Given the description of an element on the screen output the (x, y) to click on. 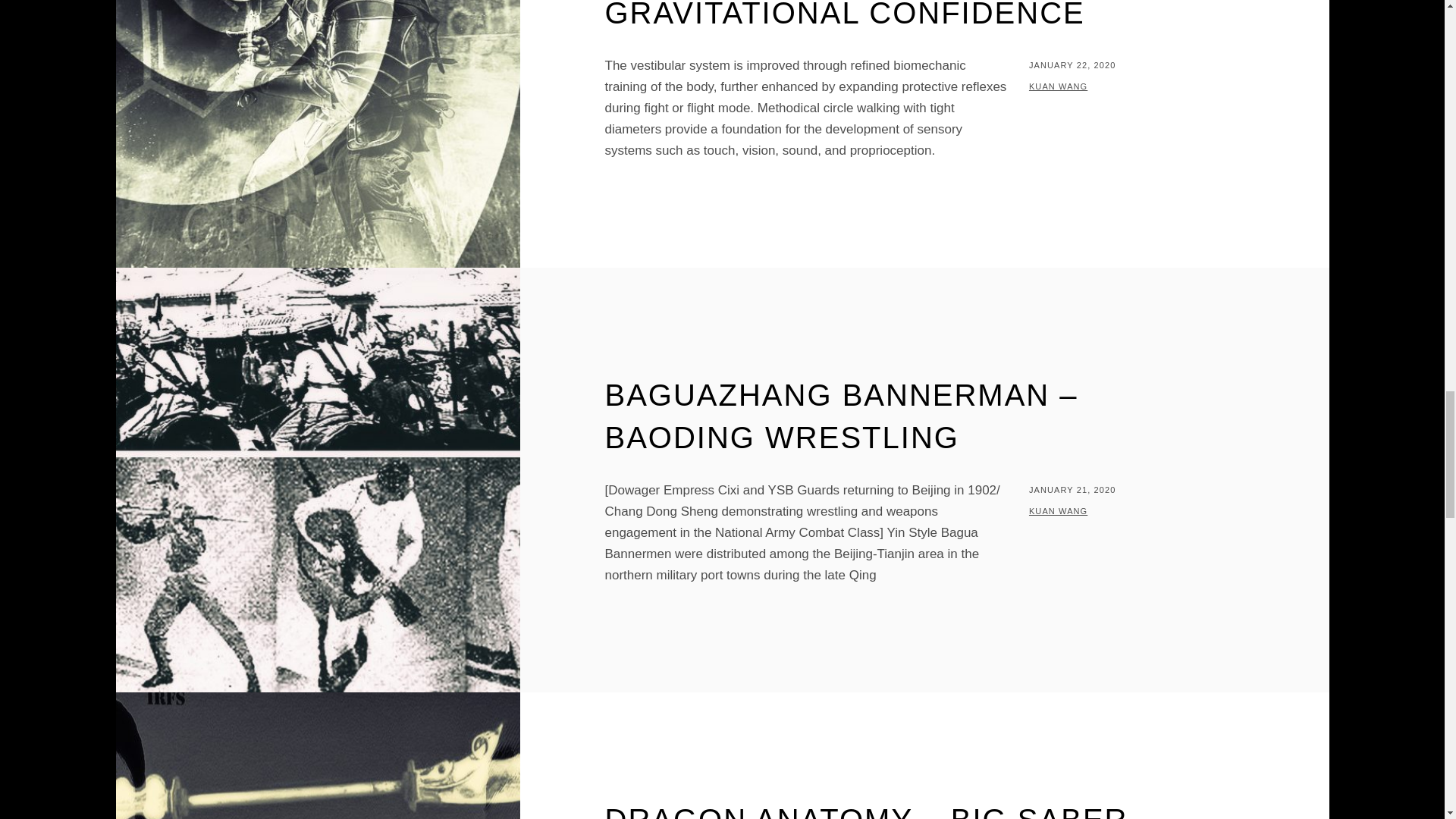
KUAN WANG (1058, 85)
KUAN WANG (1058, 510)
